Given the description of an element on the screen output the (x, y) to click on. 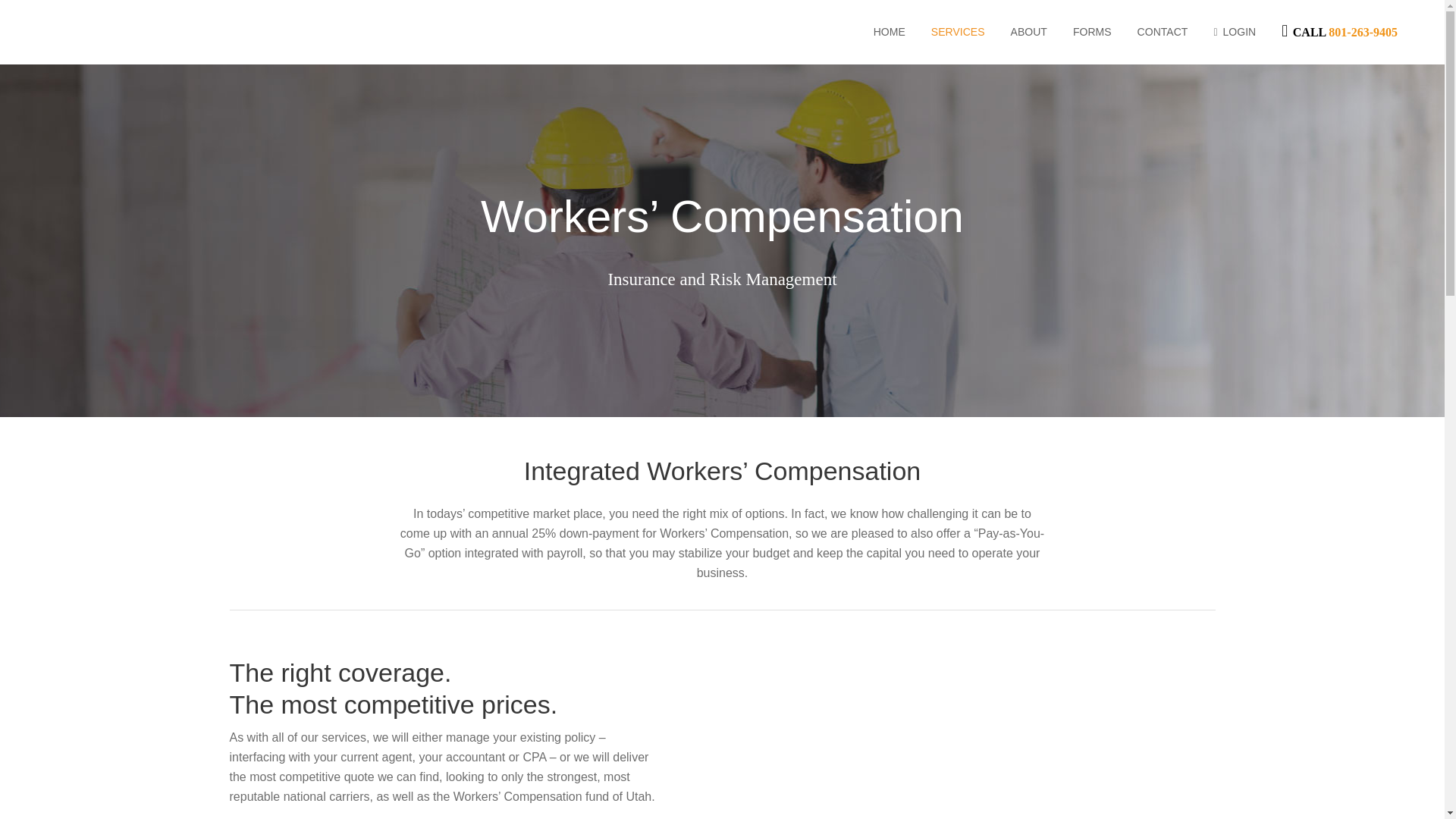
ABOUT (1028, 32)
SERVICES (957, 32)
LOGIN (1233, 32)
FORMS (1091, 32)
CONTACT (1162, 32)
HOME (889, 32)
